Given the description of an element on the screen output the (x, y) to click on. 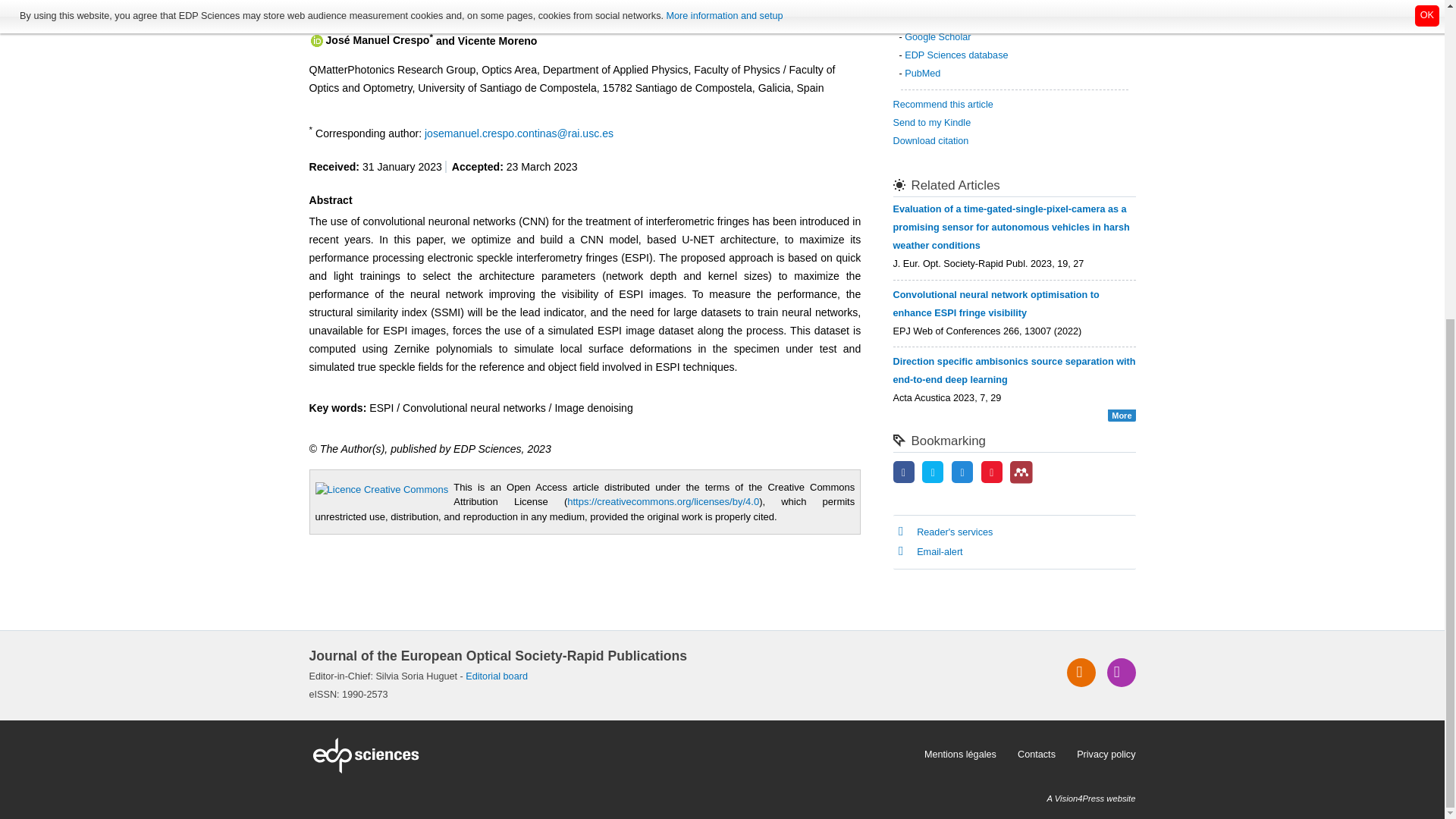
EDP Sciences website (611, 754)
Send this article to my Kindle (932, 122)
Share on Twitter (932, 472)
Access our RSS feeds (1081, 672)
Register to the journal email alert (1120, 672)
Share on Sina Weibo (992, 472)
Mendeley (1021, 472)
Add this article to your Mendeley library (1021, 480)
Share on Facebook (903, 472)
Share on LinkedIn (962, 472)
